Given the description of an element on the screen output the (x, y) to click on. 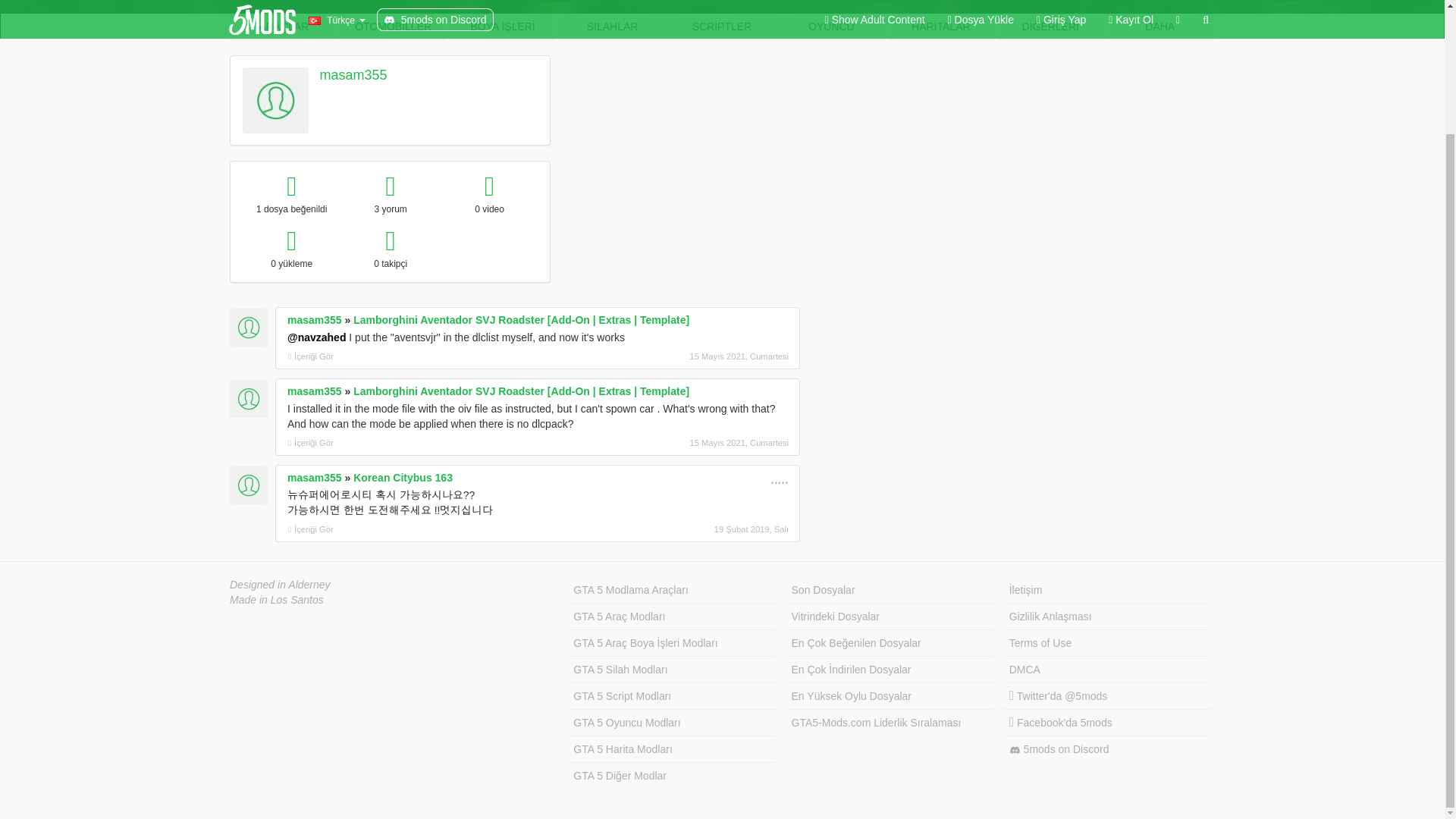
Facebook'da 5mods (1106, 723)
Cts 15.May.21 14:12 (708, 442)
Cts 15.May.21 15:25 (708, 356)
5mods on Discord (1106, 749)
